Given the description of an element on the screen output the (x, y) to click on. 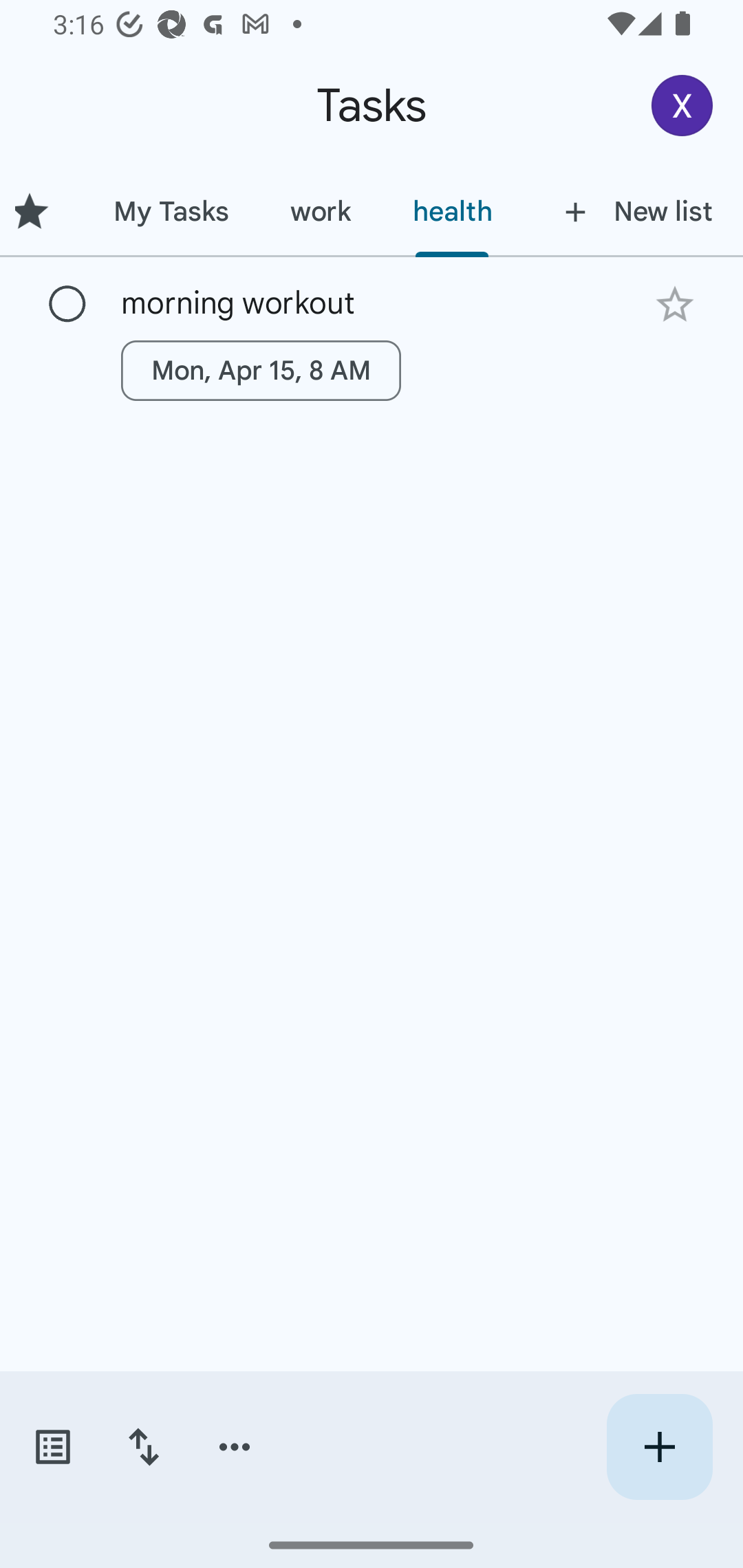
Starred (41, 211)
My Tasks (170, 211)
work (320, 211)
New list (632, 211)
Add star (674, 303)
Mark as complete (67, 304)
Mon, Apr 15, 8 AM (261, 369)
Switch task lists (52, 1447)
Create new task (659, 1446)
Change sort order (143, 1446)
More options (234, 1446)
